Given the description of an element on the screen output the (x, y) to click on. 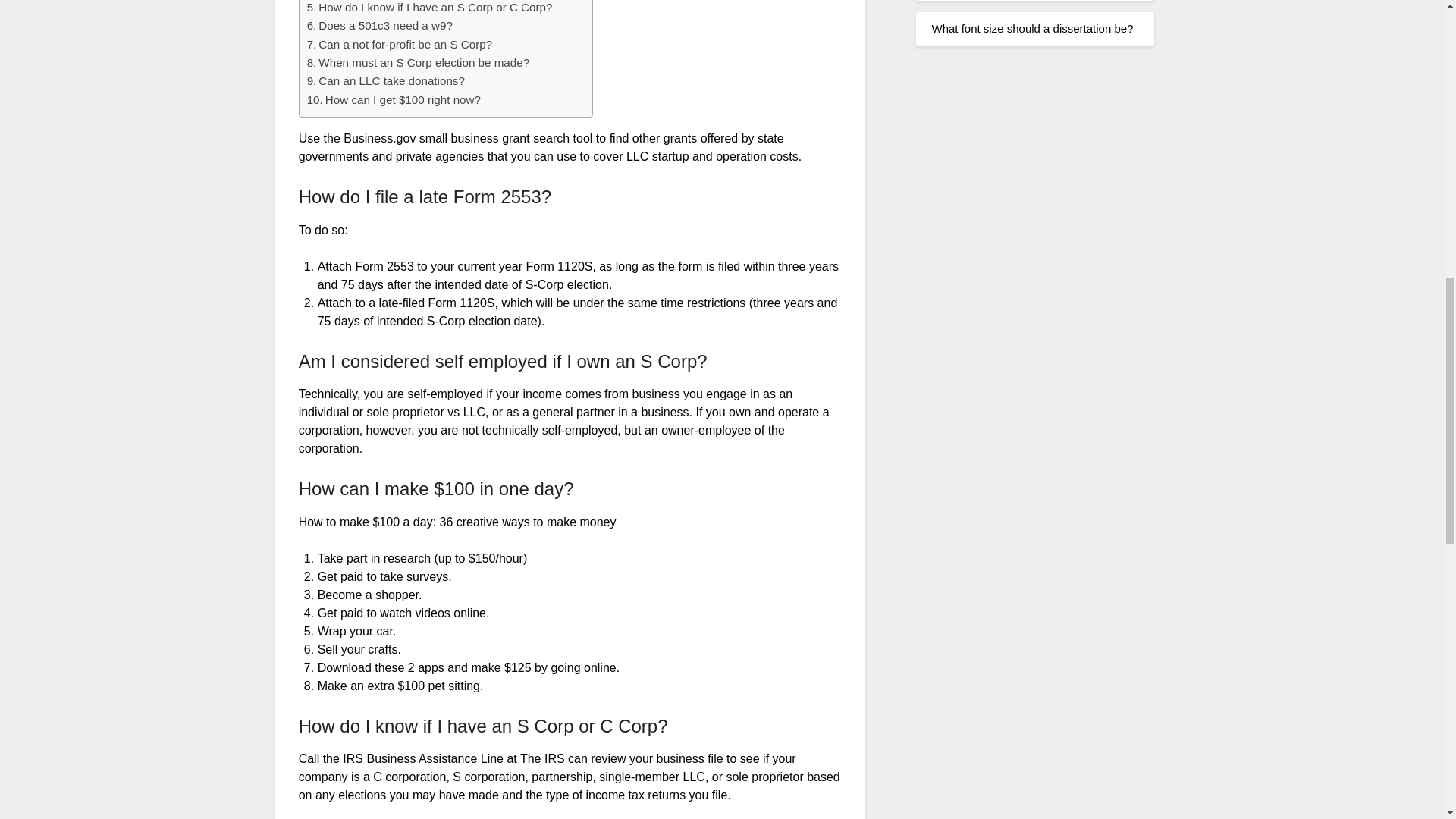
Does a 501c3 need a w9? (379, 25)
Does a 501c3 need a w9? (379, 25)
How do I know if I have an S Corp or C Corp? (430, 8)
Can an LLC take donations? (385, 81)
What font size should a dissertation be? (1031, 28)
Can an LLC take donations? (385, 81)
How do I know if I have an S Corp or C Corp? (430, 8)
When must an S Corp election be made? (418, 63)
Can a not for-profit be an S Corp? (400, 45)
When must an S Corp election be made? (418, 63)
Can a not for-profit be an S Corp? (400, 45)
